Given the description of an element on the screen output the (x, y) to click on. 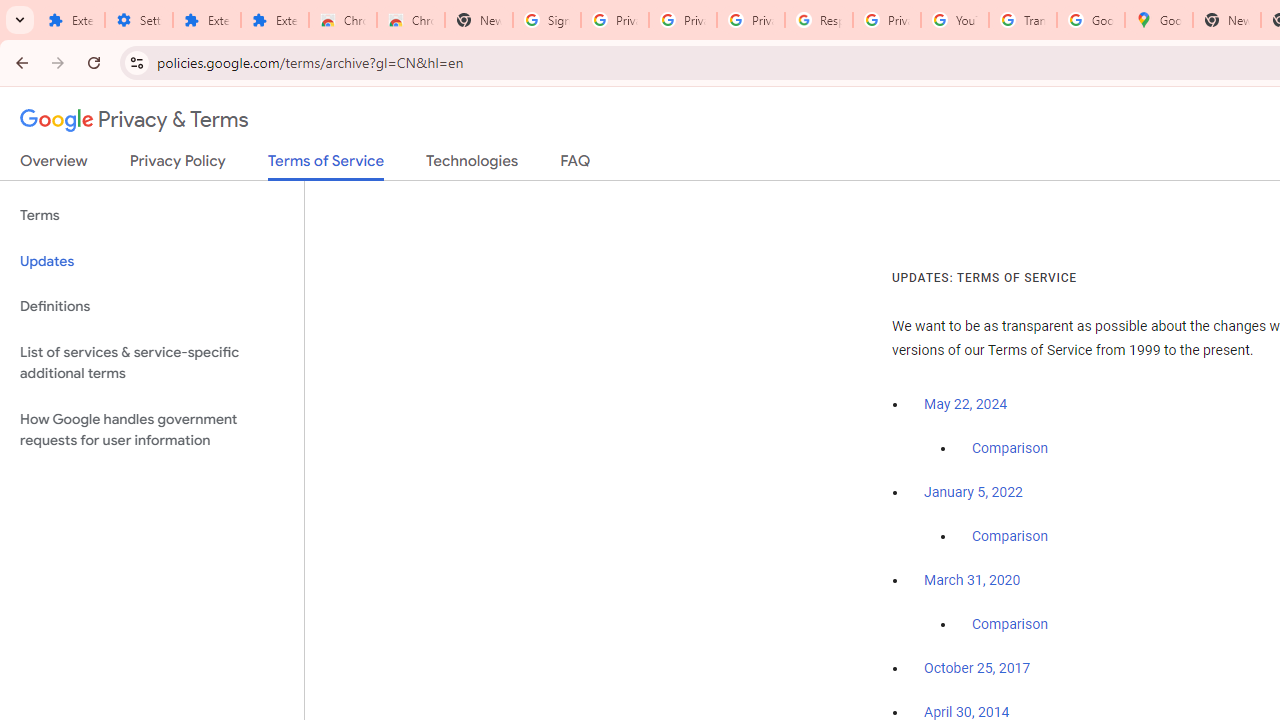
Extensions (70, 20)
January 5, 2022 (973, 492)
March 31, 2020 (972, 580)
Comparison (1009, 625)
Sign in - Google Accounts (547, 20)
Chrome Web Store (342, 20)
How Google handles government requests for user information (152, 429)
Definitions (152, 306)
October 25, 2017 (977, 669)
